Given the description of an element on the screen output the (x, y) to click on. 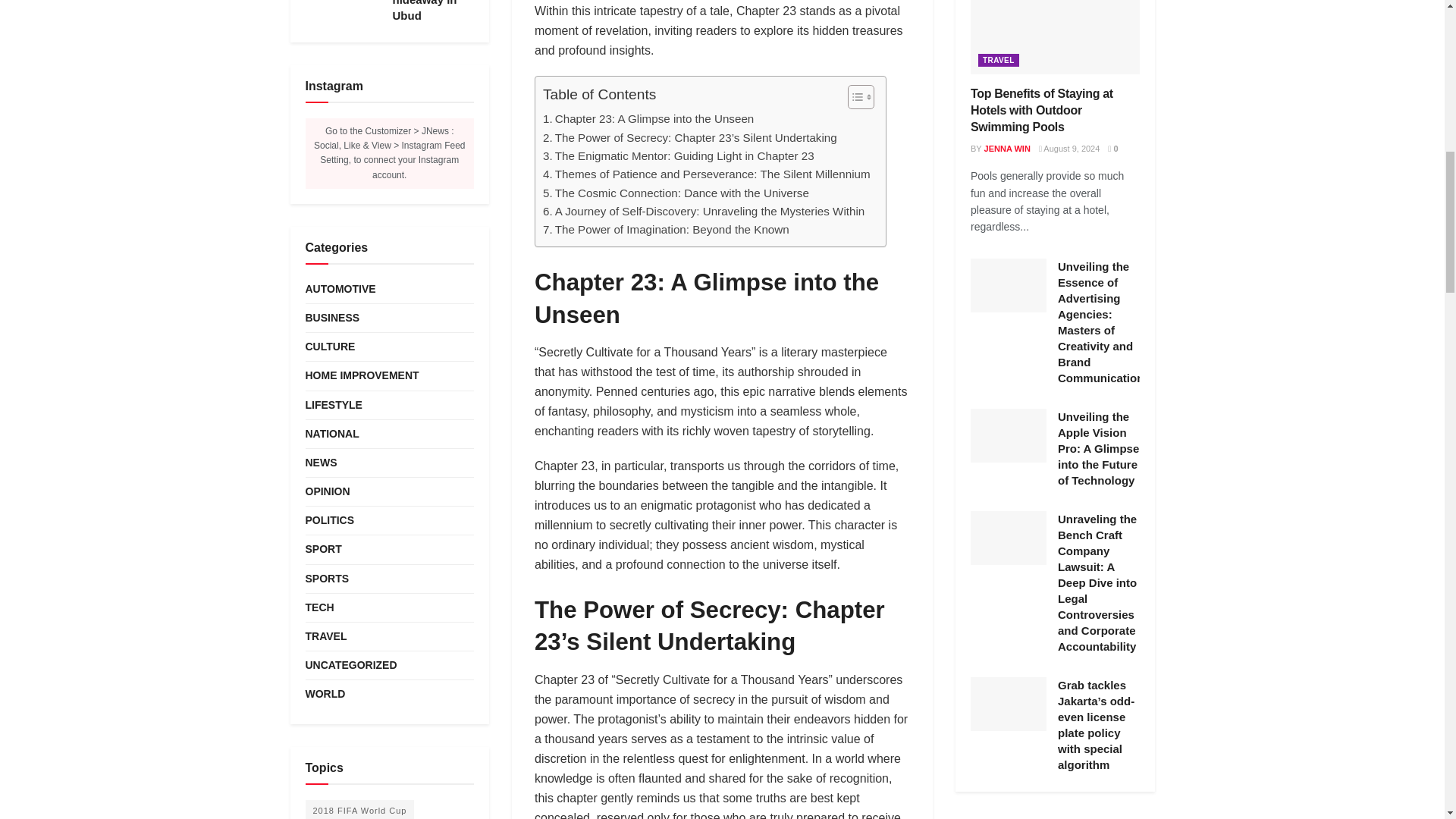
Chapter 23: A Glimpse into the Unseen (648, 118)
The Cosmic Connection: Dance with the Universe (676, 193)
The Enigmatic Mentor: Guiding Light in Chapter 23 (678, 156)
Themes of Patience and Perseverance: The Silent Millennium (706, 174)
A Journey of Self-Discovery: Unraveling the Mysteries Within (703, 211)
The Power of Imagination: Beyond the Known (666, 229)
